Given the description of an element on the screen output the (x, y) to click on. 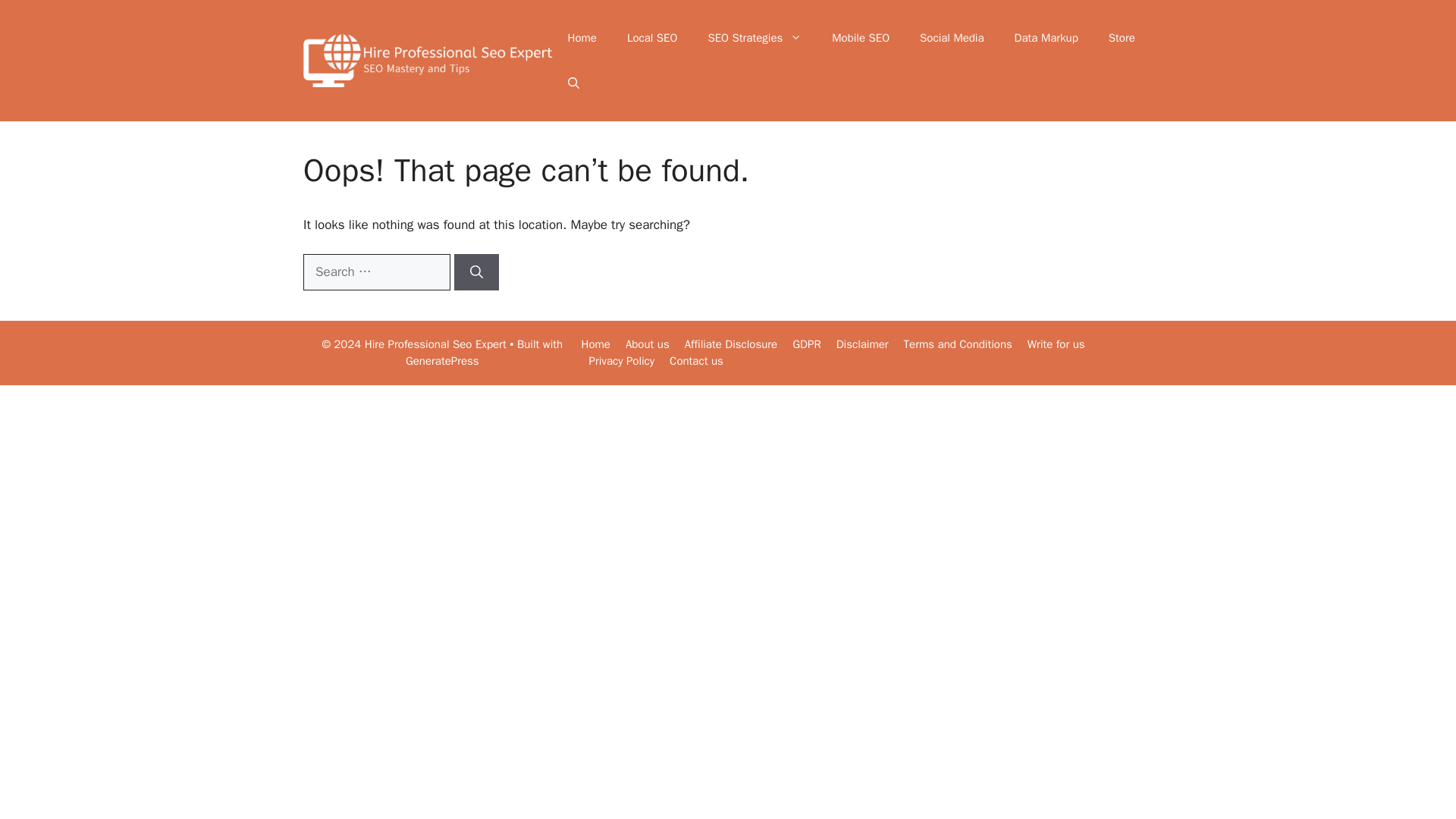
Store (1121, 37)
Contact us (696, 360)
SEO Strategies (754, 37)
Search for: (375, 271)
Home (582, 37)
Data Markup (1045, 37)
Terms and Conditions (957, 344)
Mobile SEO (860, 37)
Disclaimer (861, 344)
Home (595, 344)
GDPR (806, 344)
Write for us (1055, 344)
About us (647, 344)
Affiliate Disclosure (730, 344)
Privacy Policy (622, 360)
